Given the description of an element on the screen output the (x, y) to click on. 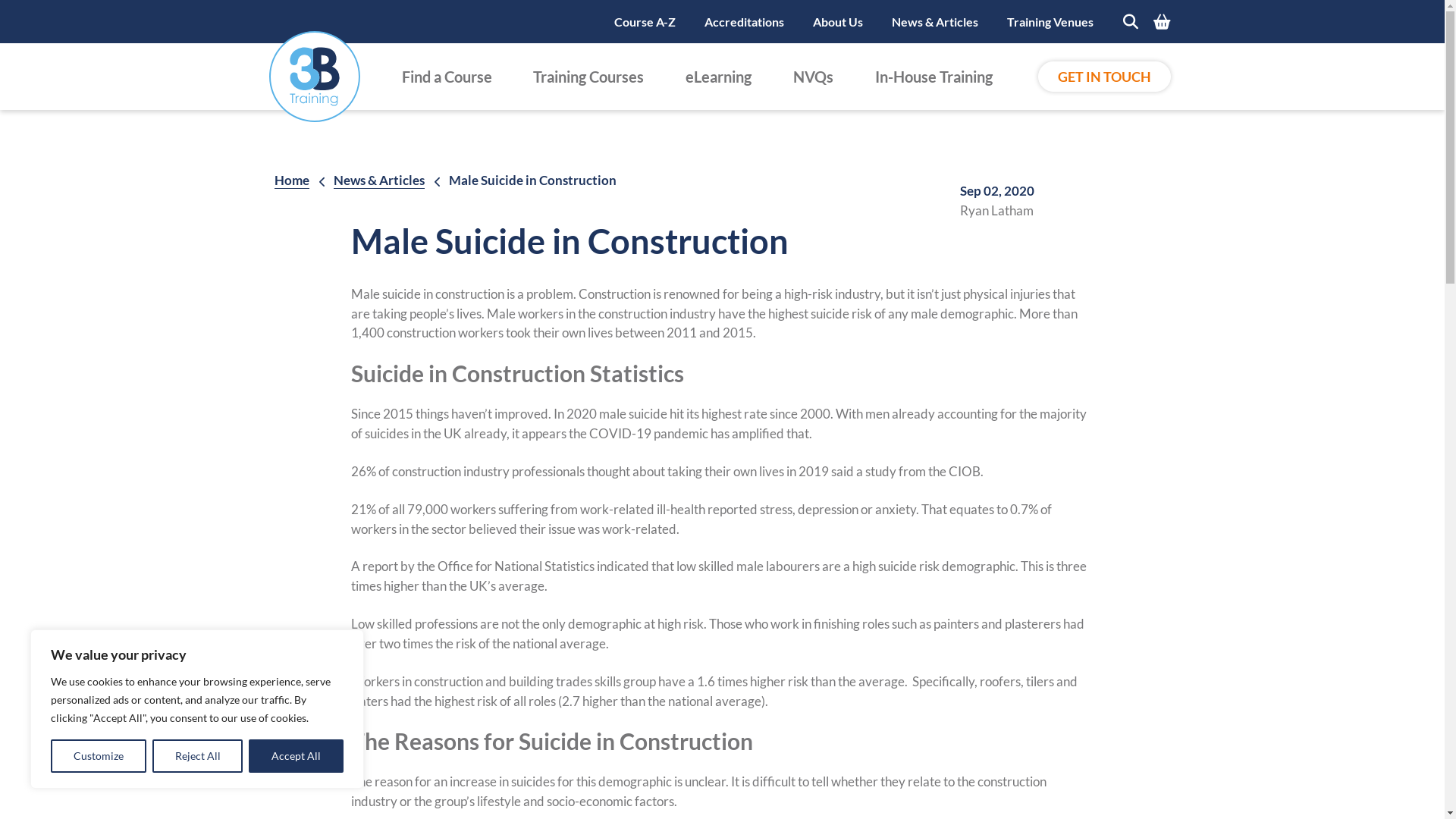
Ryan Latham Element type: text (996, 210)
Reject All Element type: text (197, 755)
Find a Course Element type: text (446, 76)
Training Courses Element type: text (588, 76)
News & Articles Element type: text (933, 21)
Accreditations Element type: text (744, 21)
Customize Element type: text (98, 755)
Training Venues Element type: text (1049, 21)
About Us Element type: text (836, 21)
In-House Training Element type: text (933, 76)
GET IN TOUCH Element type: text (1103, 76)
Accept All Element type: text (295, 755)
Home Element type: text (291, 180)
NVQs Element type: text (813, 76)
News & Articles Element type: text (378, 180)
eLearning Element type: text (718, 76)
Course A-Z Element type: text (644, 21)
